Given the description of an element on the screen output the (x, y) to click on. 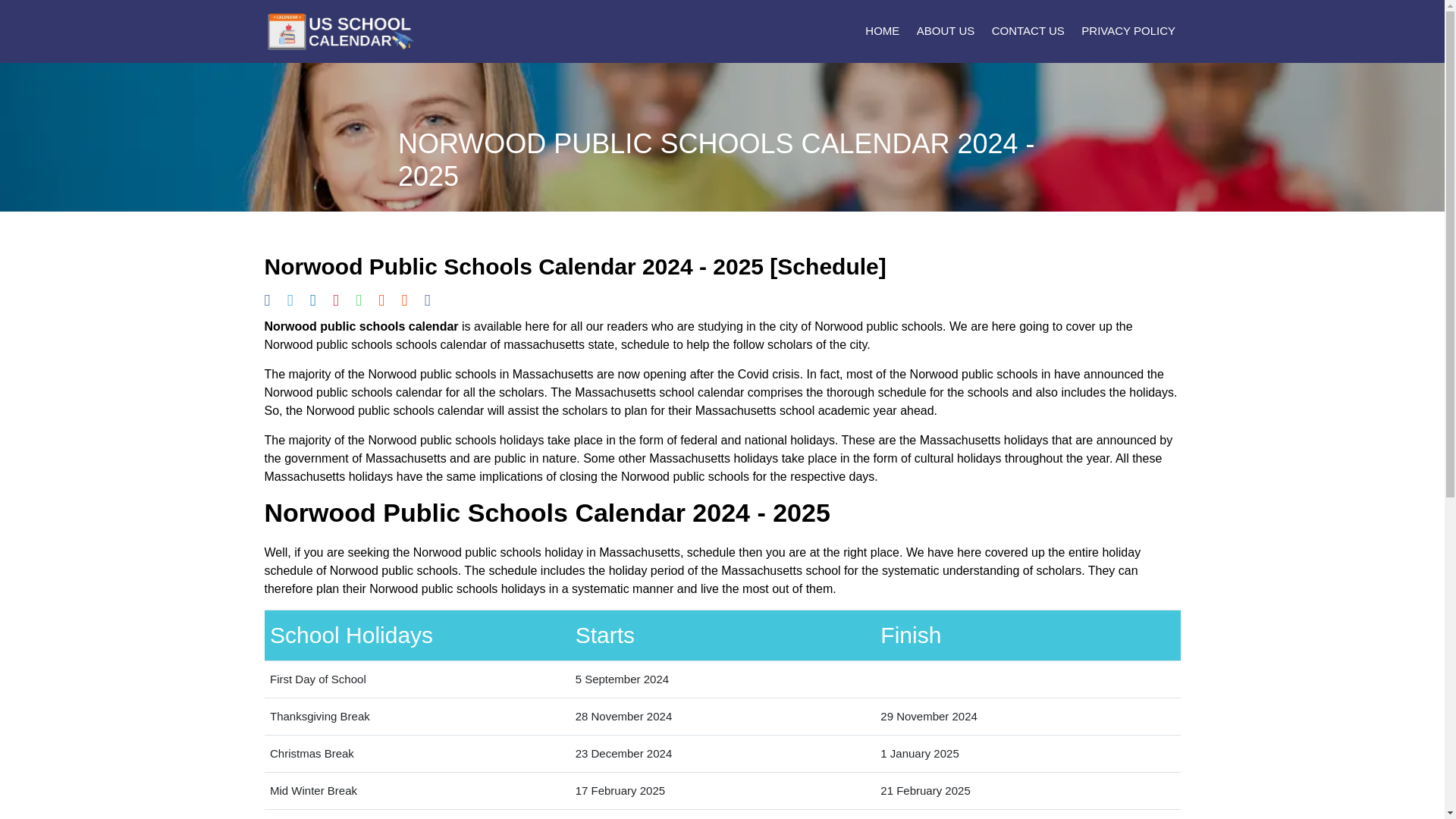
CONTACT US (1024, 31)
PRIVACY POLICY (1125, 31)
HOME (879, 31)
ABOUT US (942, 31)
